Given the description of an element on the screen output the (x, y) to click on. 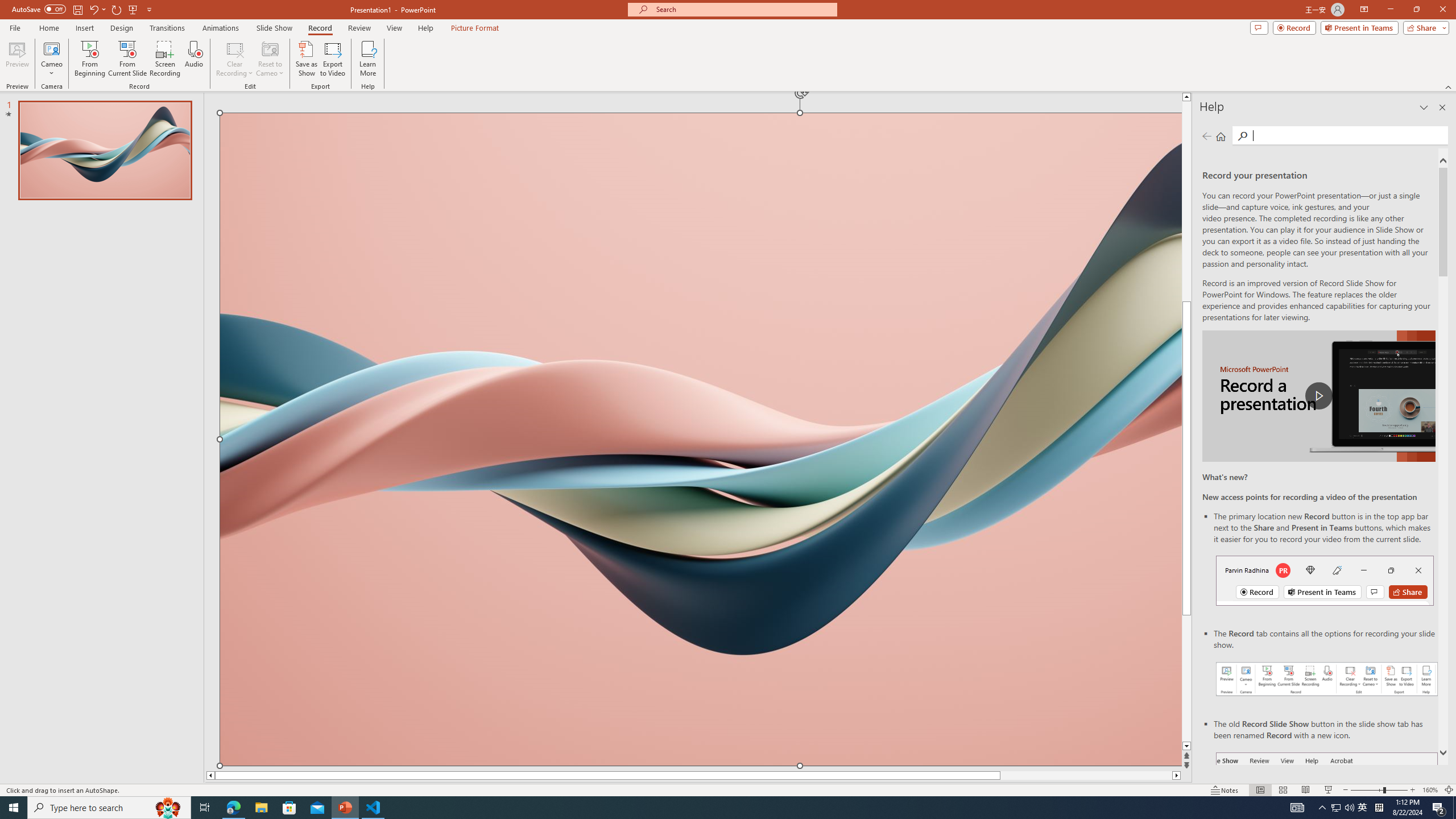
Cameo (51, 58)
Zoom In (1412, 790)
System (6, 6)
Collapse the Ribbon (1448, 86)
Record (1294, 27)
Record button in top bar (1324, 580)
Animations (220, 28)
Record your presentations screenshot one (1326, 678)
Transitions (167, 28)
Zoom to Fit  (1449, 790)
From Beginning (133, 9)
Clear Recording (234, 58)
Home (48, 28)
Wavy 3D art (700, 439)
